Given the description of an element on the screen output the (x, y) to click on. 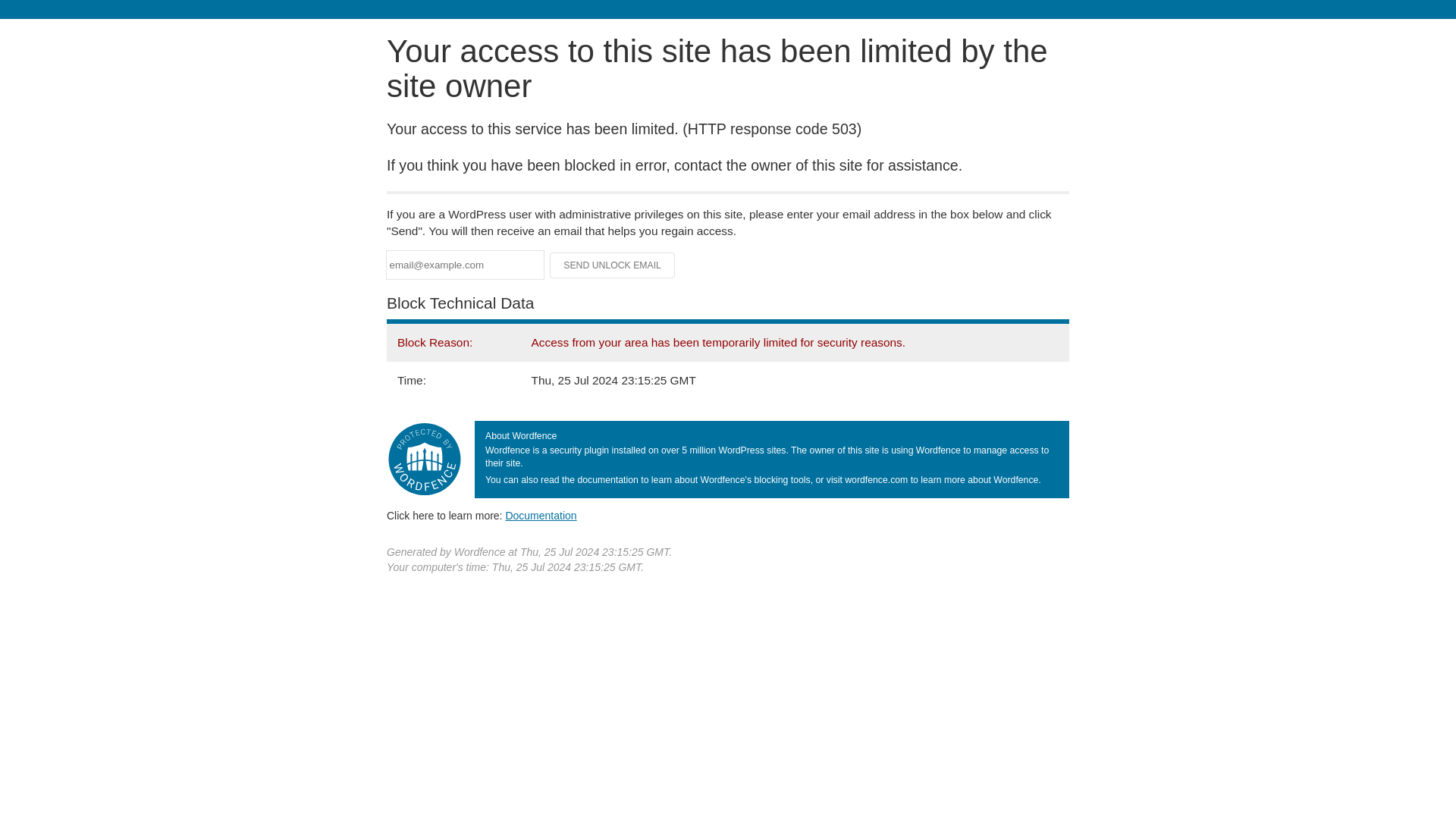
Send Unlock Email (612, 265)
Documentation (540, 515)
Send Unlock Email (612, 265)
